Given the description of an element on the screen output the (x, y) to click on. 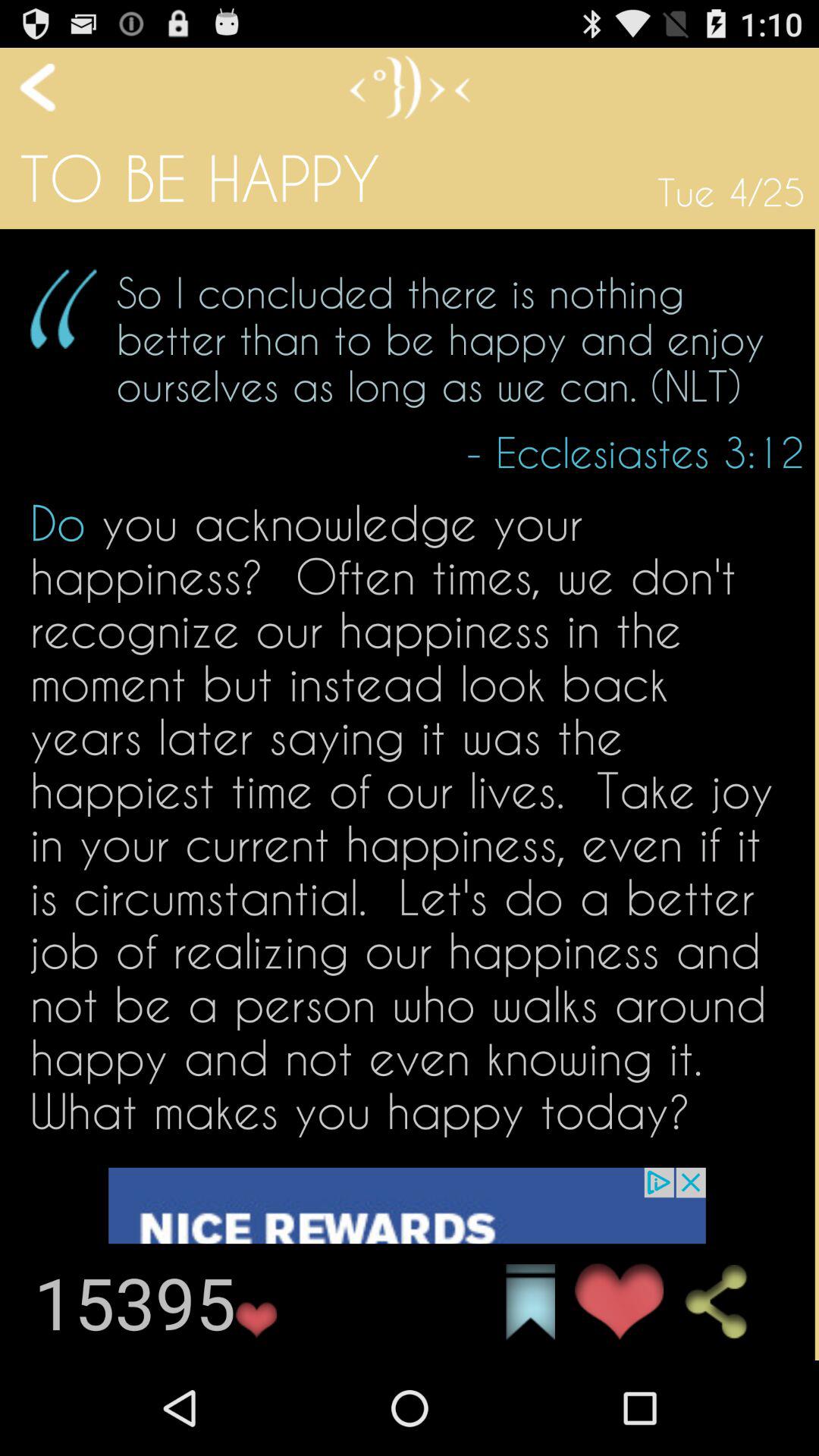
click share (729, 1301)
